Given the description of an element on the screen output the (x, y) to click on. 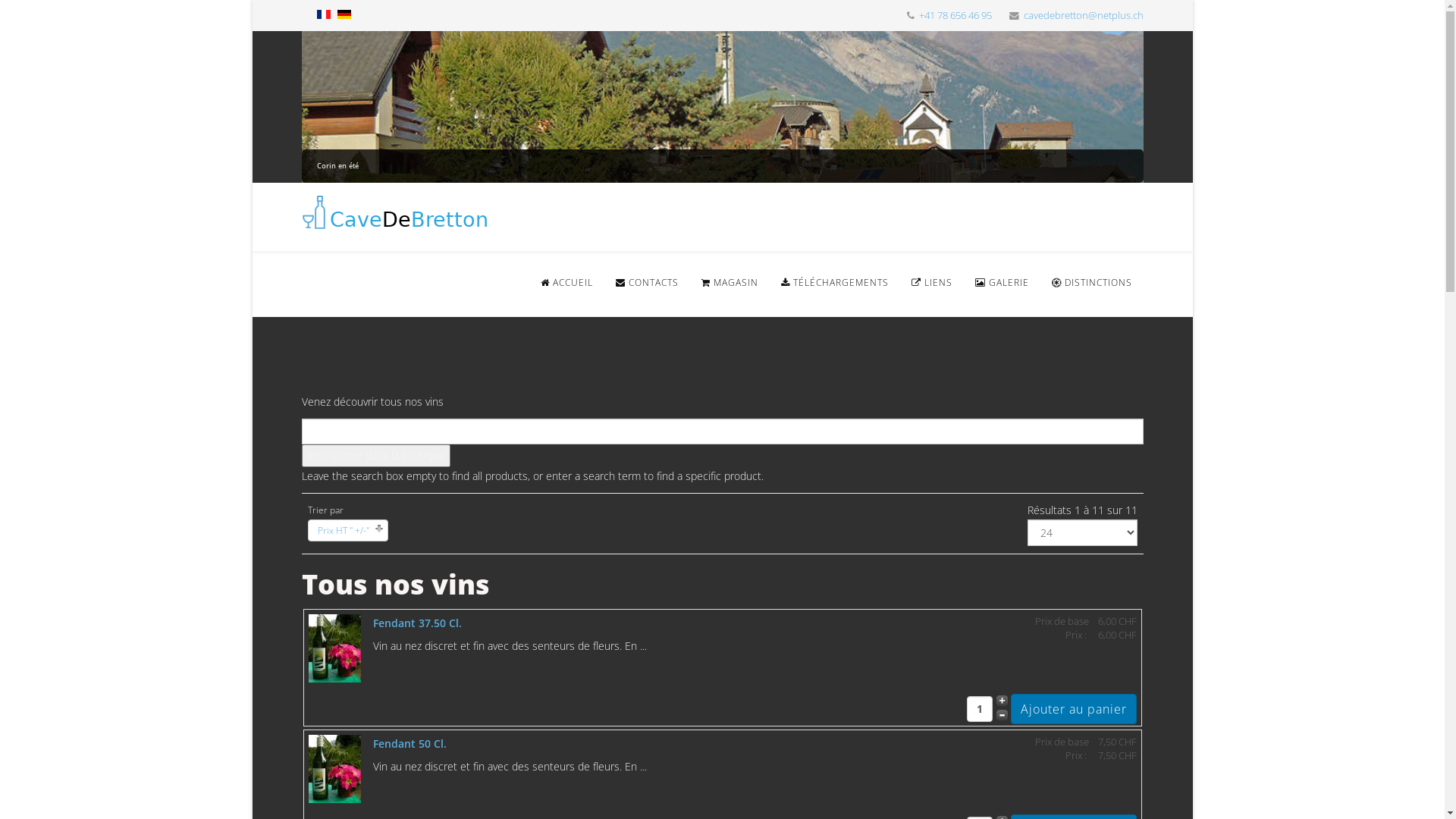
+41 78 656 46 95 Element type: text (955, 15)
Rechercher dans la boutique Element type: text (375, 455)
cavedebretton@netplus.ch Element type: text (1083, 15)
GALERIE Element type: text (1001, 282)
Ajouter au panier Element type: text (1072, 708)
CONTACTS Element type: text (646, 282)
Prix HT " +/-" Element type: text (342, 530)
DISTINCTIONS Element type: text (1091, 282)
Fendant 37.50 Cl. Element type: text (417, 622)
Ajouter au panier Element type: hover (1072, 708)
MAGASIN Element type: text (729, 282)
Fendant 50 Cl. Element type: hover (333, 768)
Fendant 50 Cl. Element type: text (409, 743)
LIENS Element type: text (931, 282)
ACCUEIL Element type: text (566, 282)
Fendant 37.50 Cl. Element type: hover (333, 648)
Deutsch Element type: hover (343, 13)
